Given the description of an element on the screen output the (x, y) to click on. 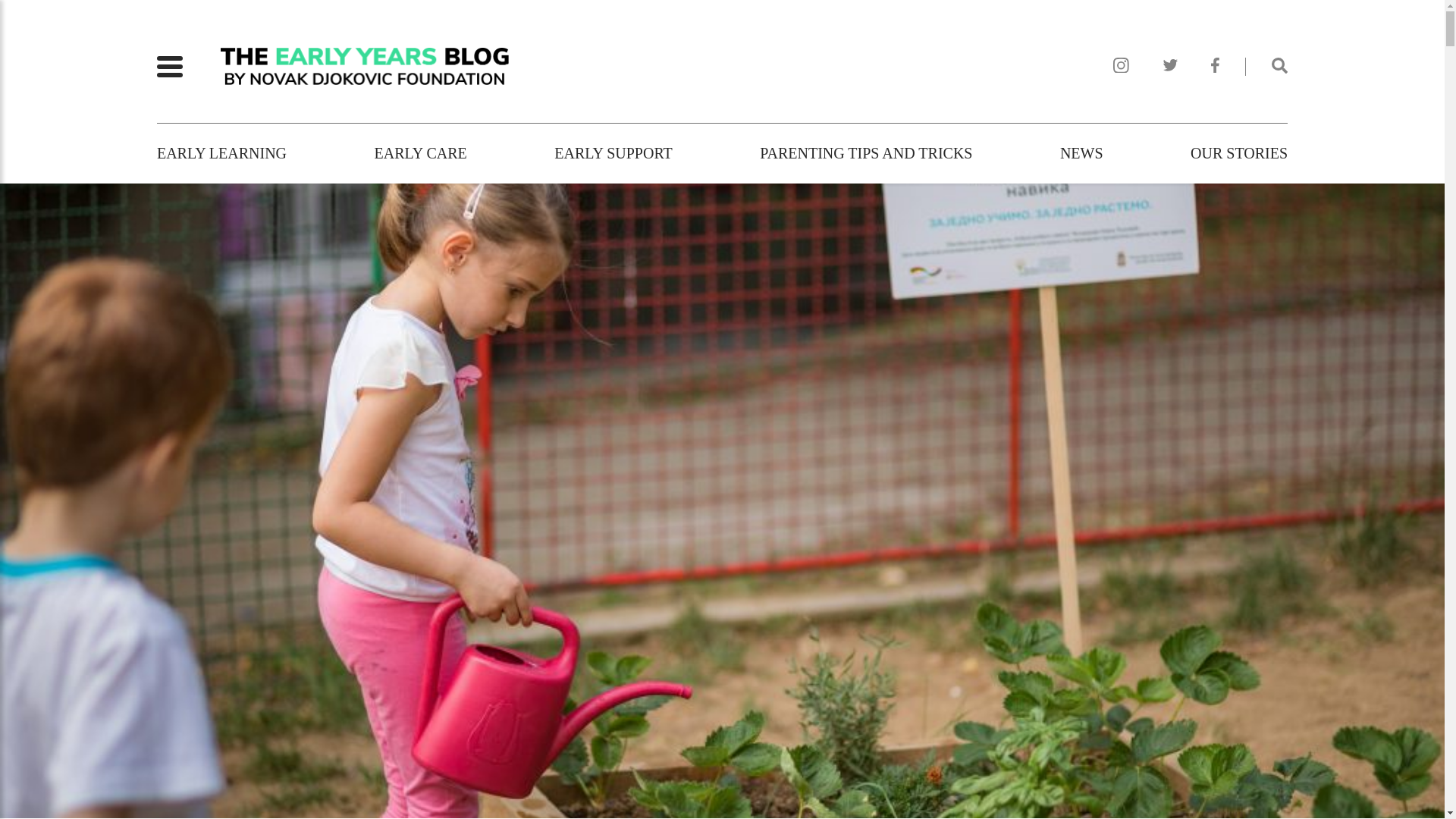
OUR STORIES (1239, 153)
EARLY SUPPORT (613, 153)
EARLY LEARNING (221, 153)
NEWS (1081, 153)
EARLY CARE (420, 153)
PARENTING TIPS AND TRICKS (866, 153)
